Given the description of an element on the screen output the (x, y) to click on. 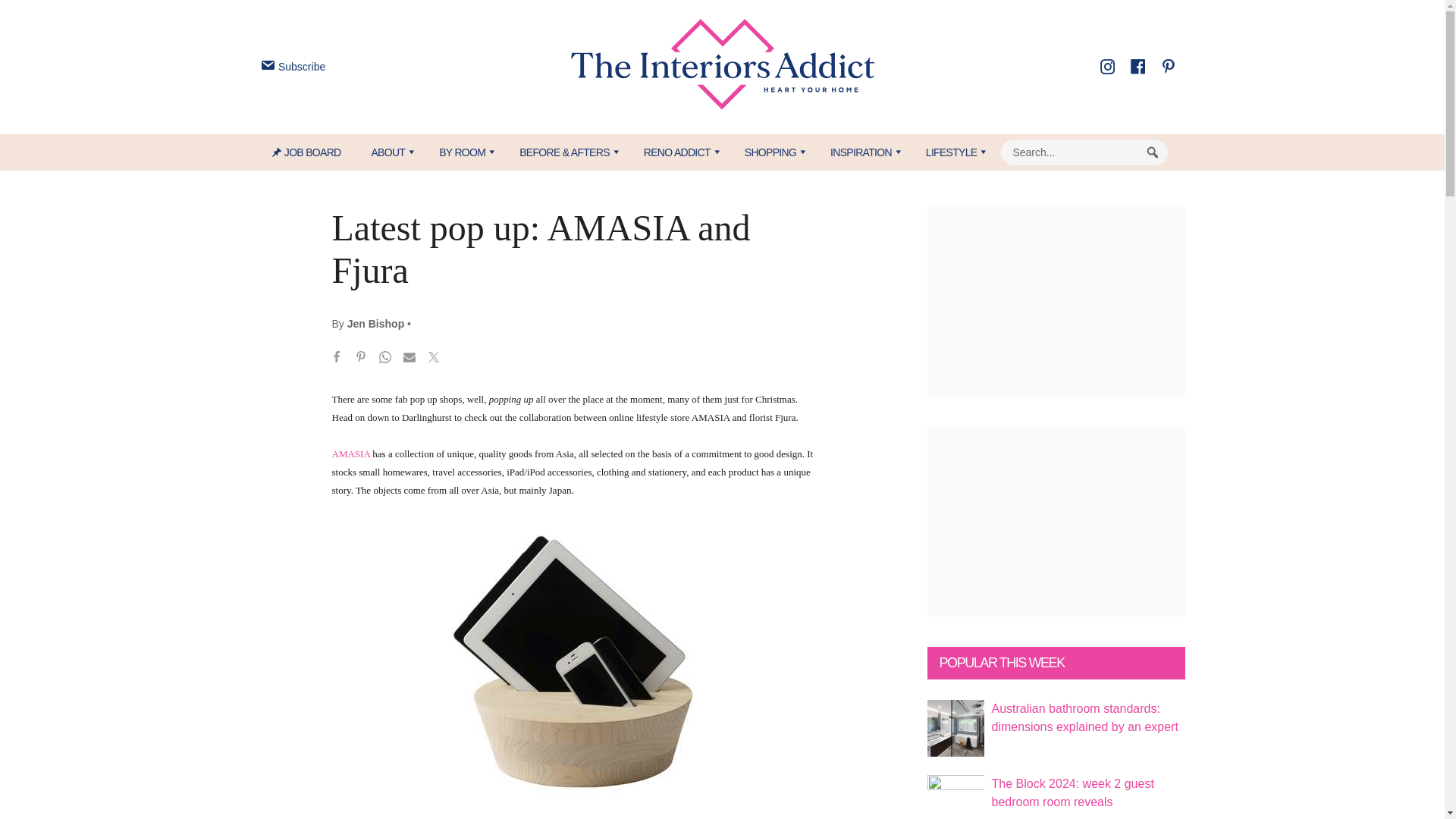
JOB BOARD (313, 152)
Share via Email (409, 359)
ABOUT (389, 152)
BY ROOM (463, 152)
Share on Pinterest (360, 359)
YES PLEASE! (793, 294)
Subscribe (291, 66)
Share on Facebook (336, 359)
Search (1152, 151)
